Given the description of an element on the screen output the (x, y) to click on. 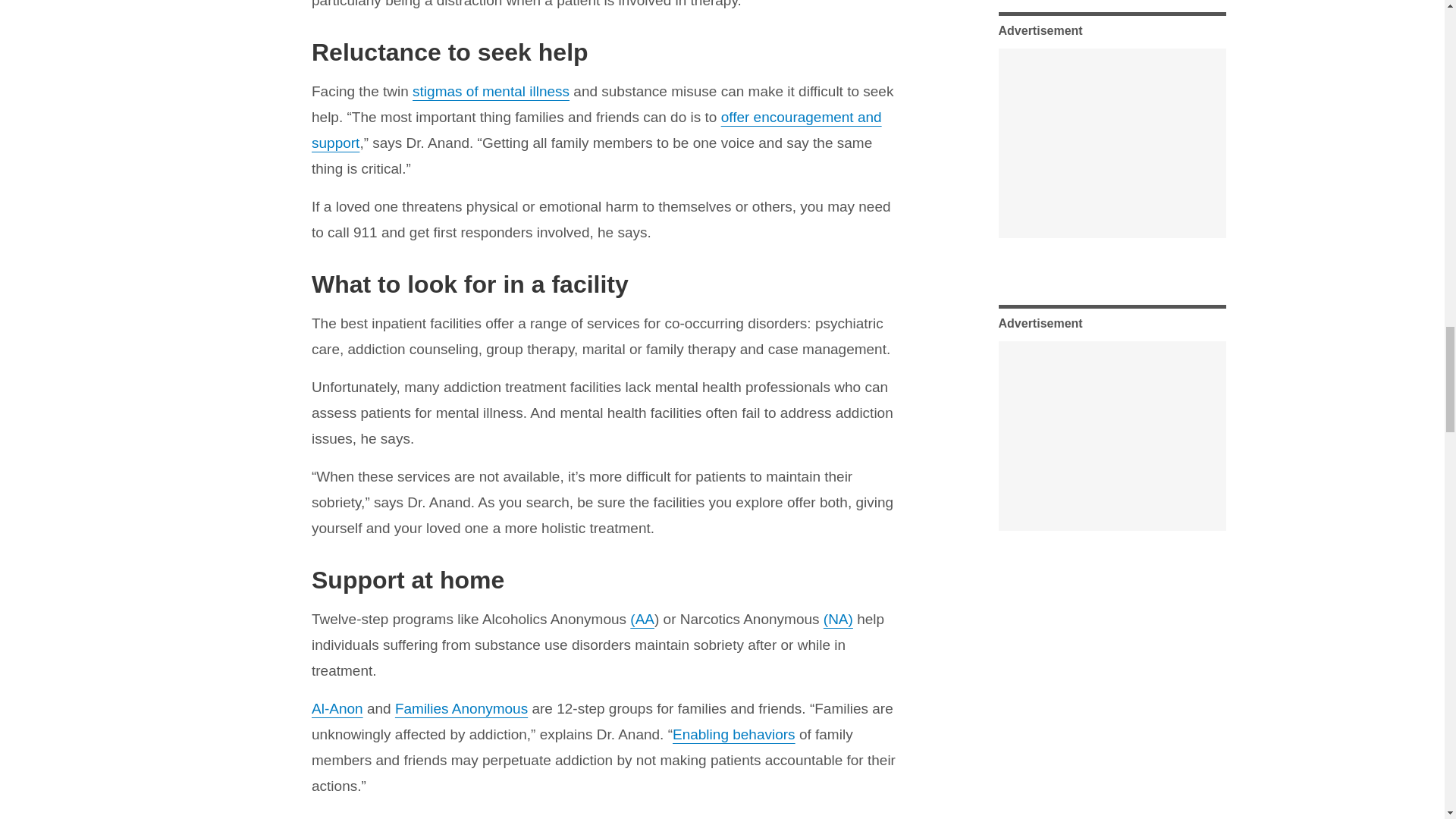
offer encouragement and support (596, 129)
stigmas of mental illness (490, 91)
